Given the description of an element on the screen output the (x, y) to click on. 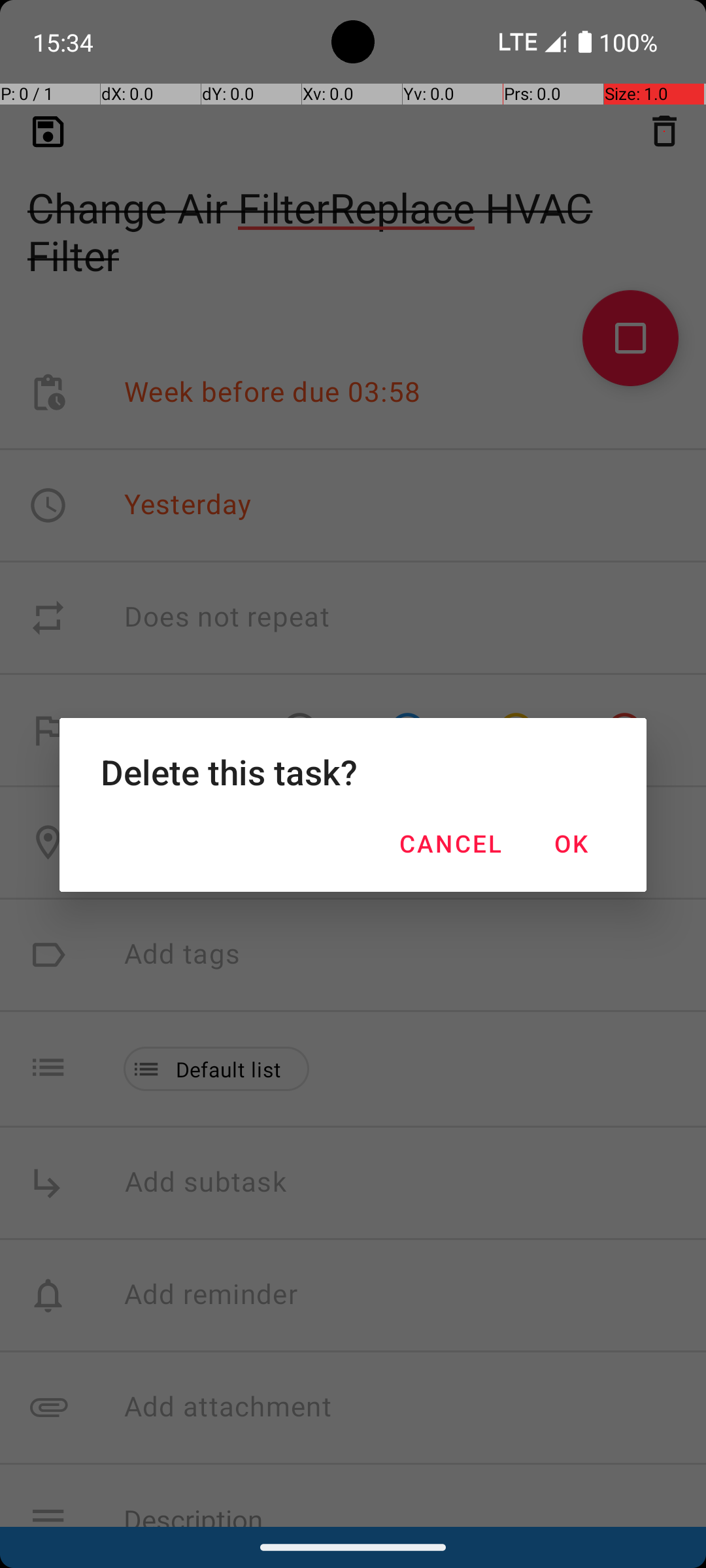
Delete this task? Element type: android.widget.TextView (352, 771)
